Given the description of an element on the screen output the (x, y) to click on. 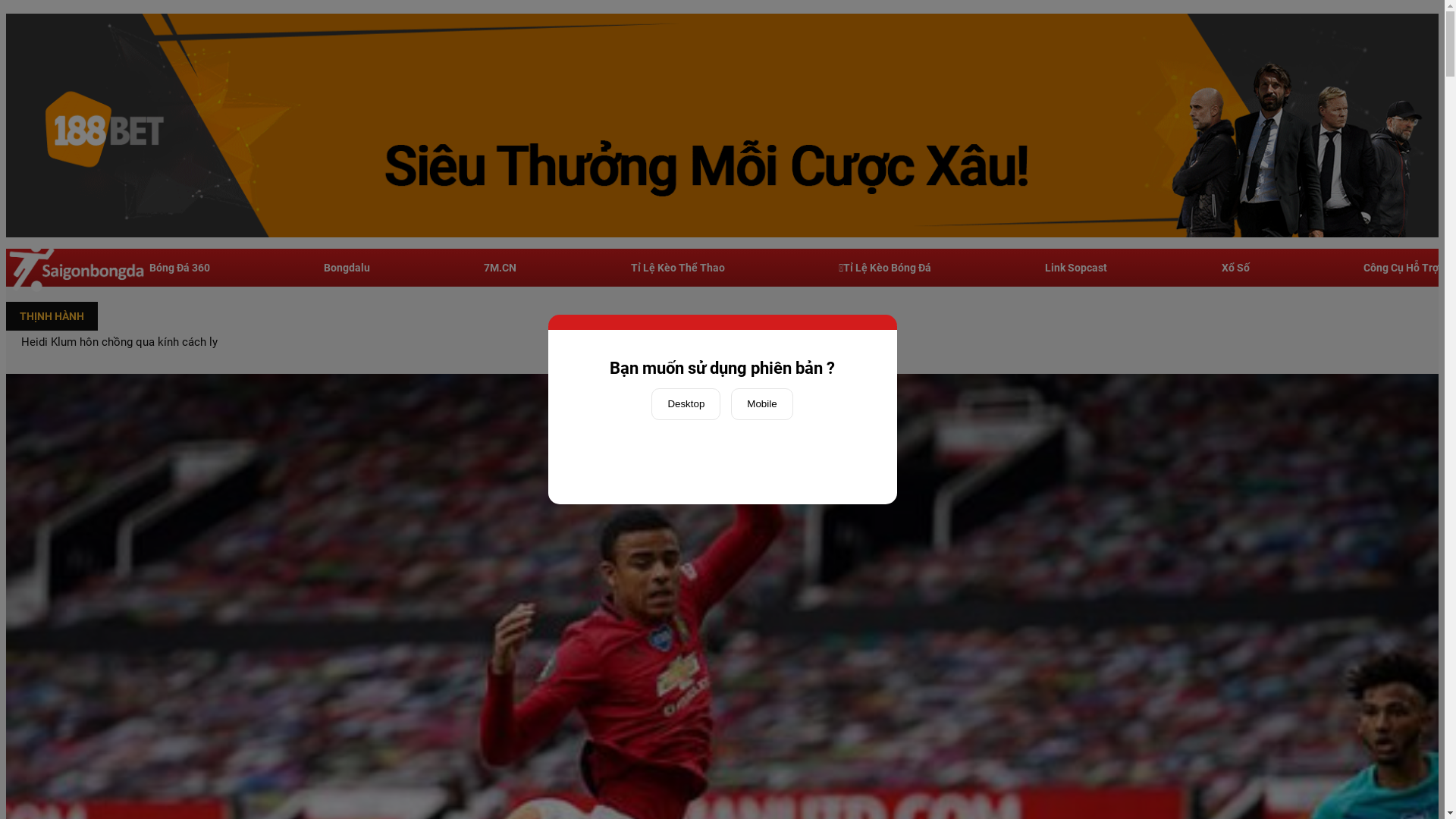
Link Sopcast Element type: text (1075, 267)
7M.CN Element type: text (499, 267)
Desktop Element type: text (685, 404)
Mobile Element type: text (761, 404)
Bongdalu Element type: text (346, 267)
